Given the description of an element on the screen output the (x, y) to click on. 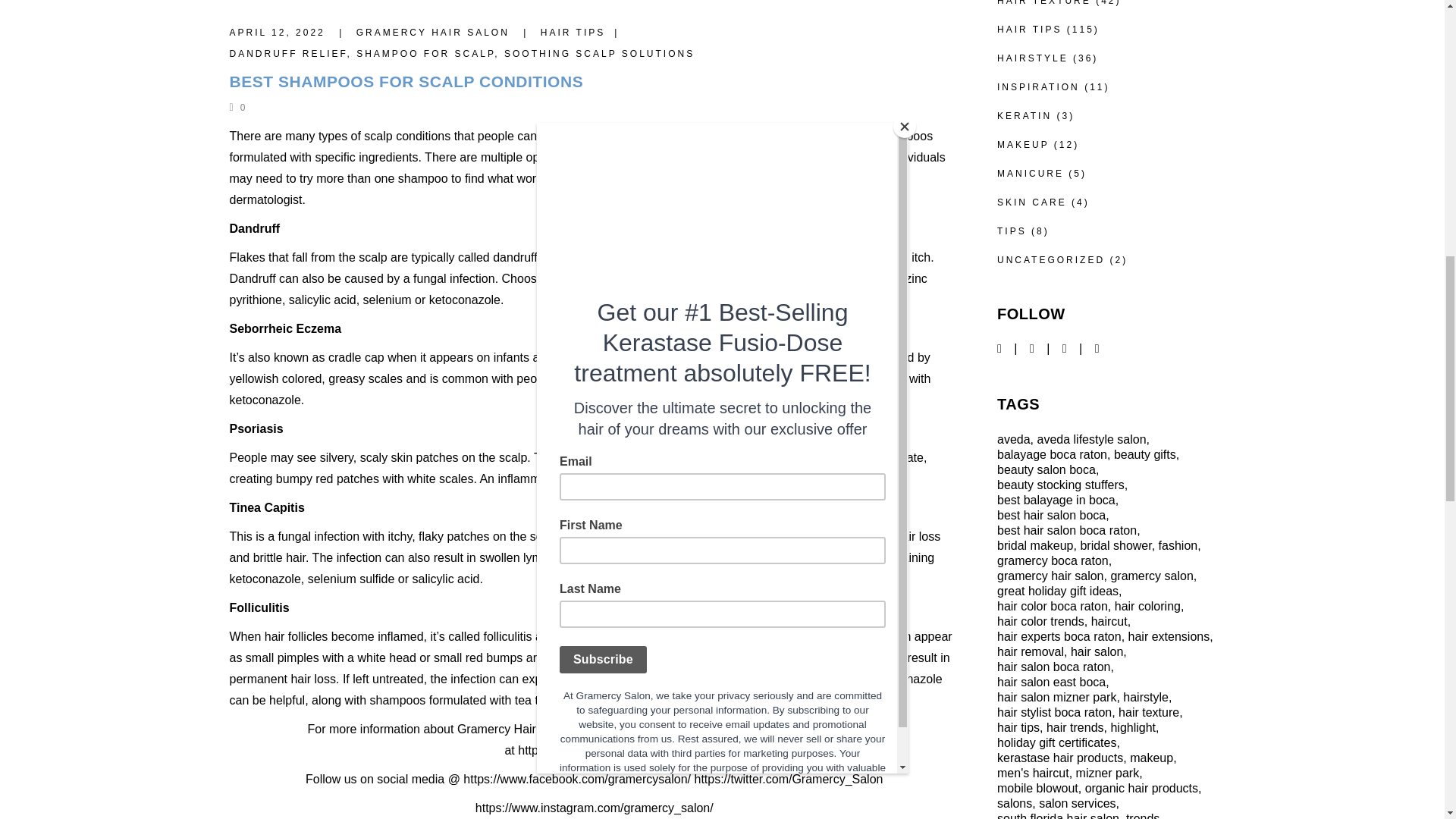
Like this (236, 107)
